Given the description of an element on the screen output the (x, y) to click on. 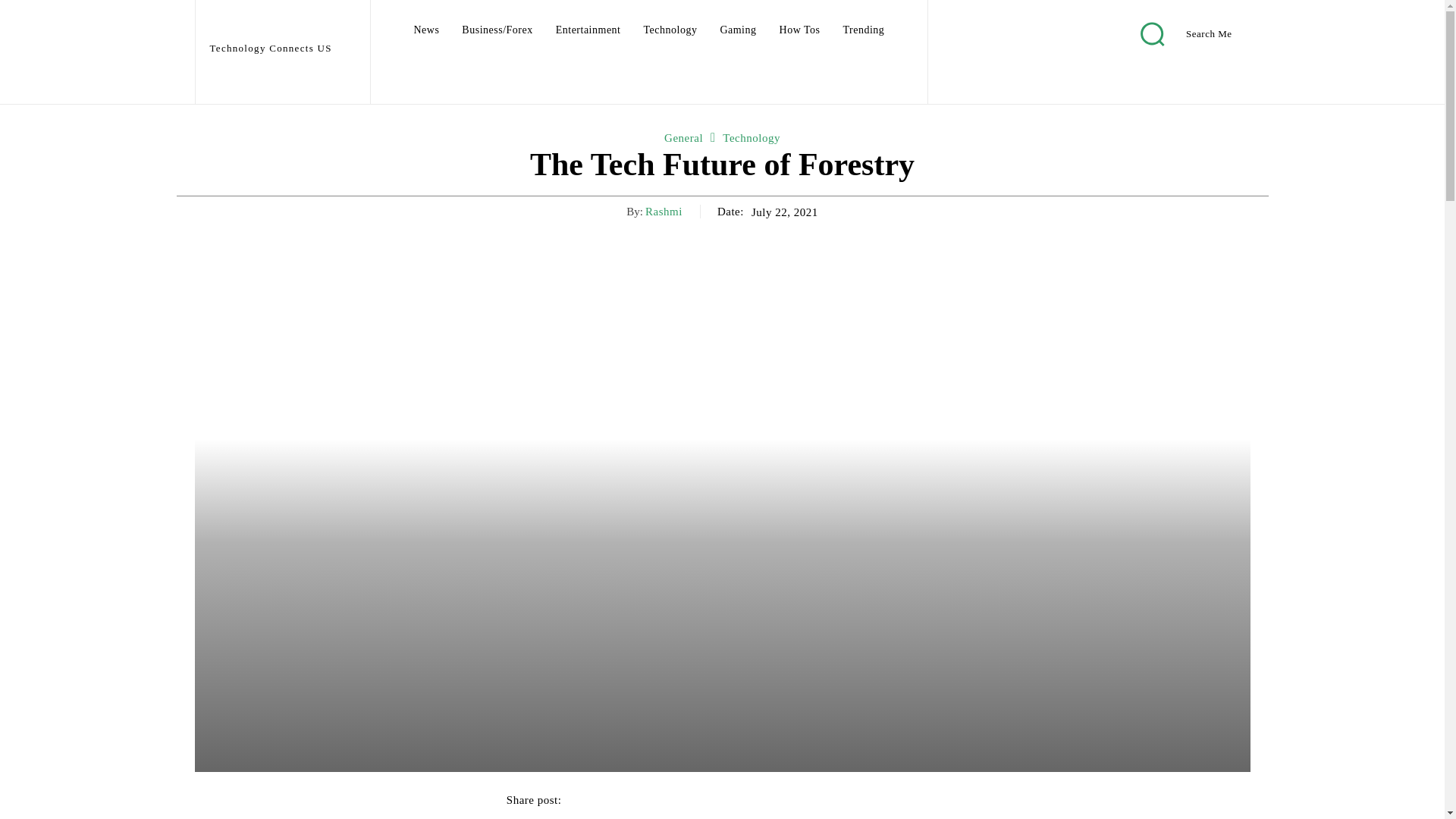
Technology Connects US (258, 25)
Technology Connects US (280, 35)
Technology Connects US (280, 35)
Entertainment (588, 30)
